Given the description of an element on the screen output the (x, y) to click on. 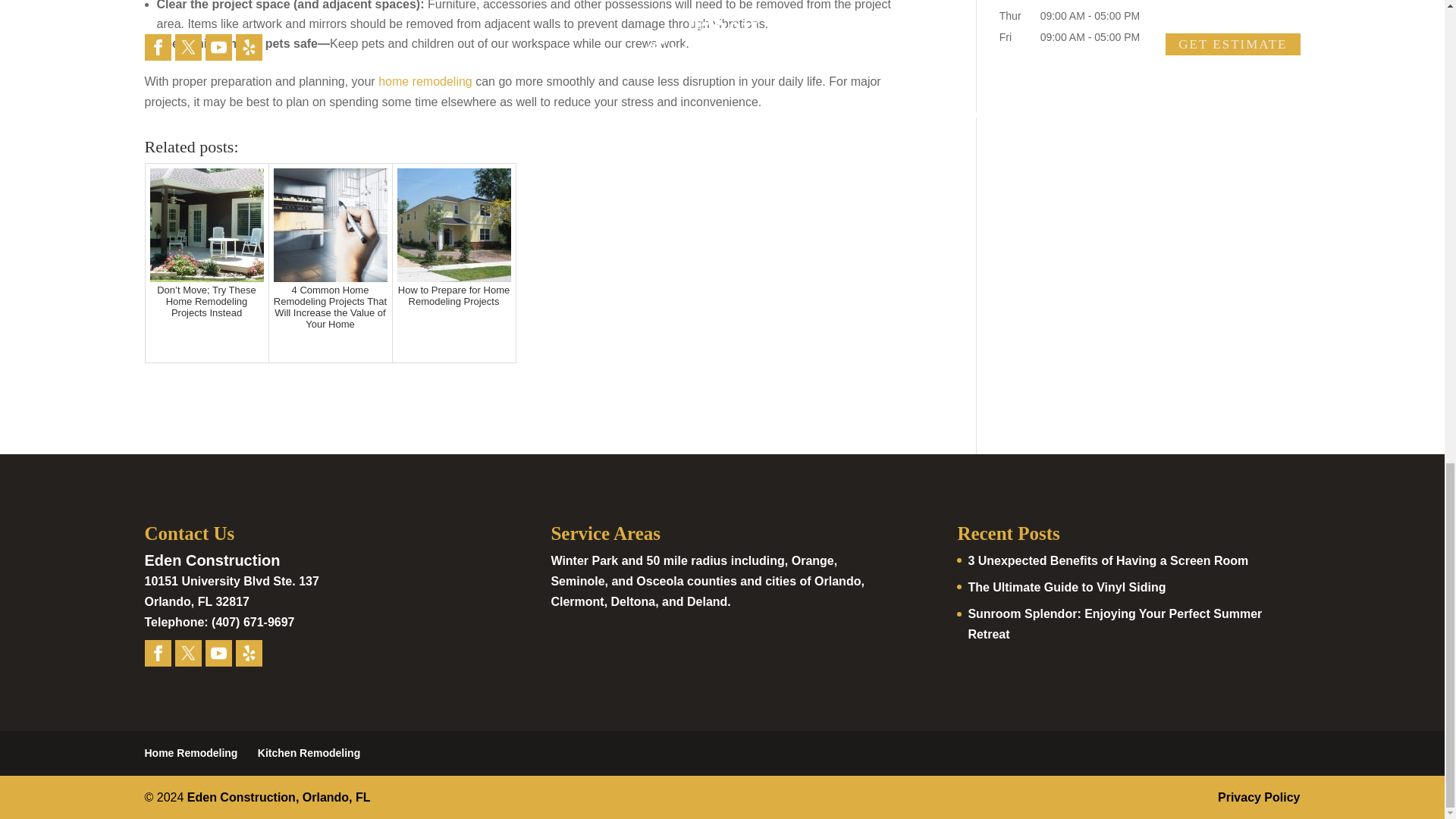
Facebook (157, 652)
Facebook (157, 652)
Twitter (188, 652)
home remodeling (424, 81)
Twitter (187, 652)
